Given the description of an element on the screen output the (x, y) to click on. 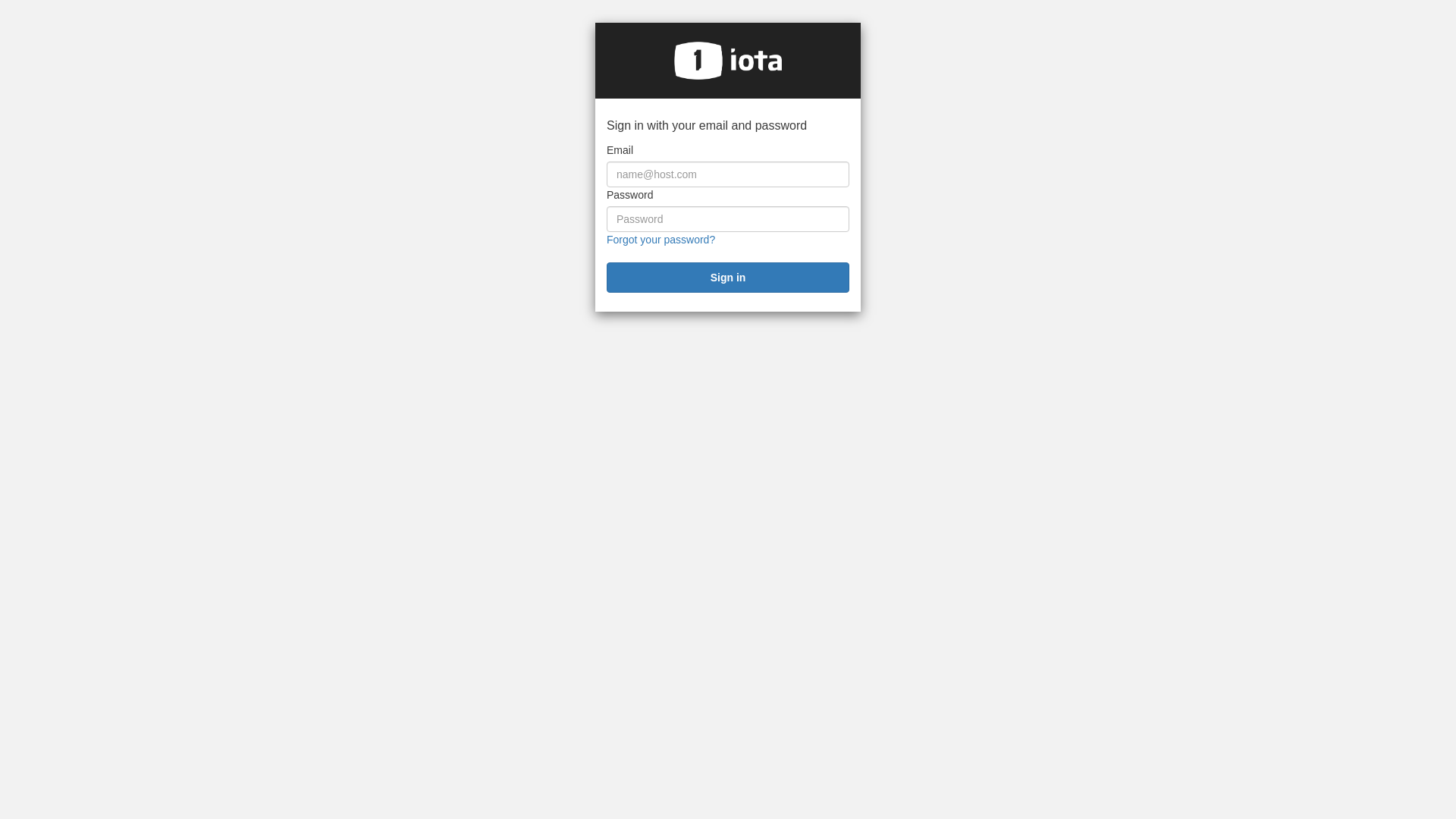
Forgot your password? Element type: text (660, 239)
